Given the description of an element on the screen output the (x, y) to click on. 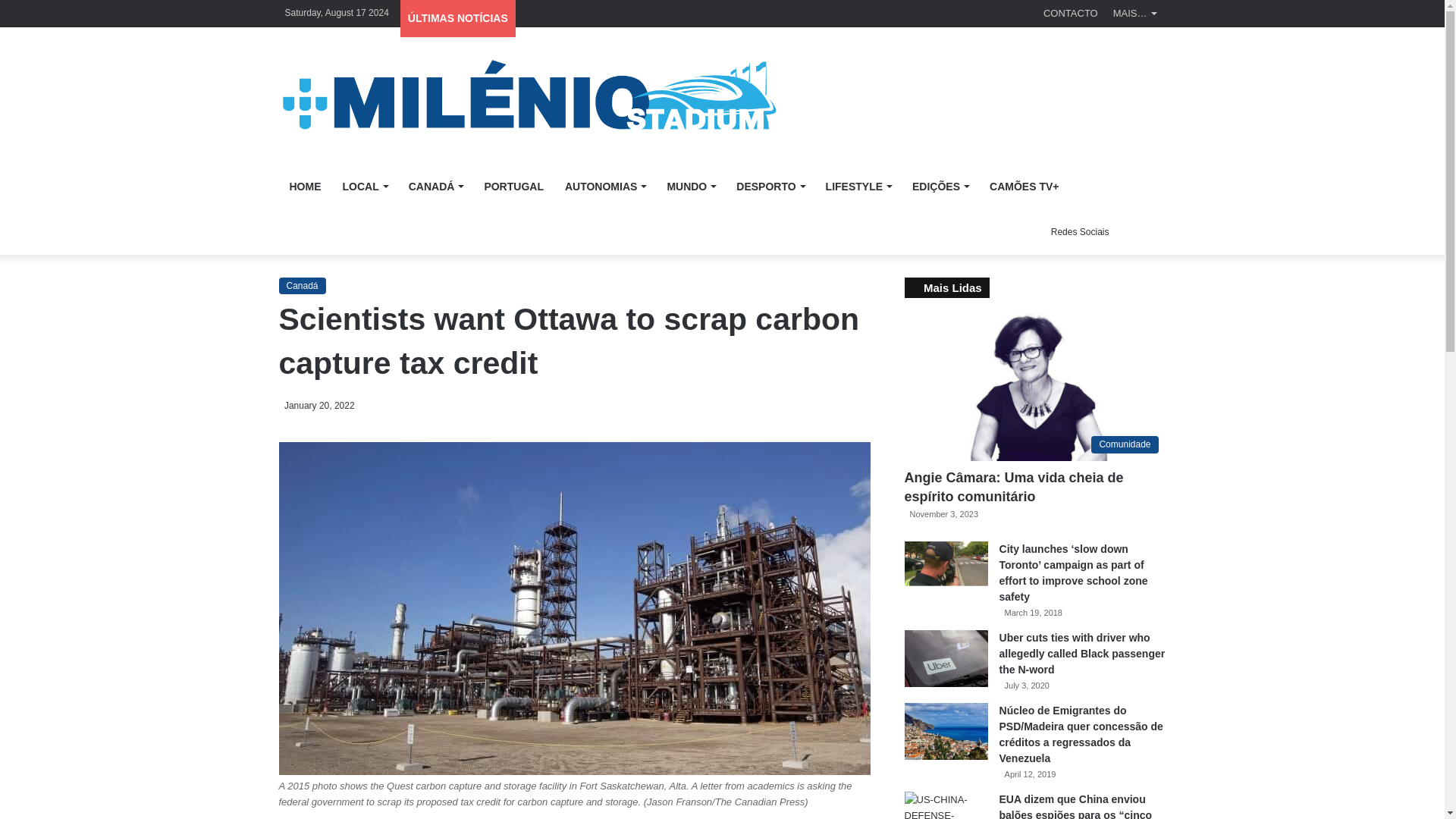
DESPORTO (769, 186)
LOCAL (364, 186)
PORTUGAL (513, 186)
HOME (305, 186)
MUNDO (690, 186)
Milenio Stadium (528, 95)
AUTONOMIAS (605, 186)
CONTACTO (1070, 13)
